Given the description of an element on the screen output the (x, y) to click on. 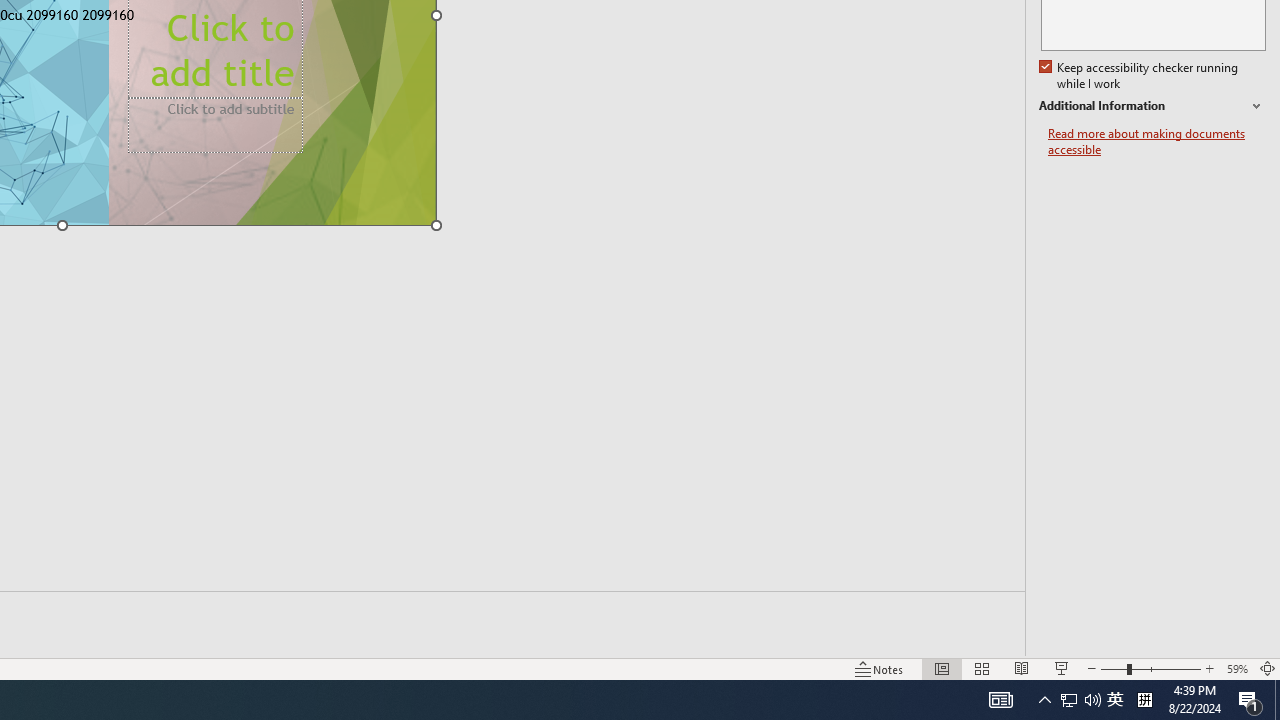
Zoom 59% (1236, 668)
